Given the description of an element on the screen output the (x, y) to click on. 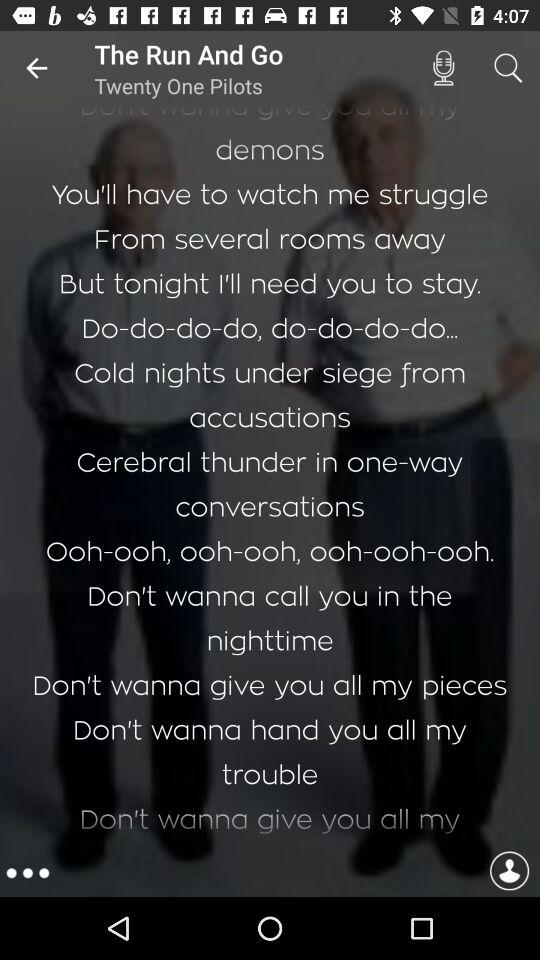
tap item to the right of the run and item (443, 67)
